Given the description of an element on the screen output the (x, y) to click on. 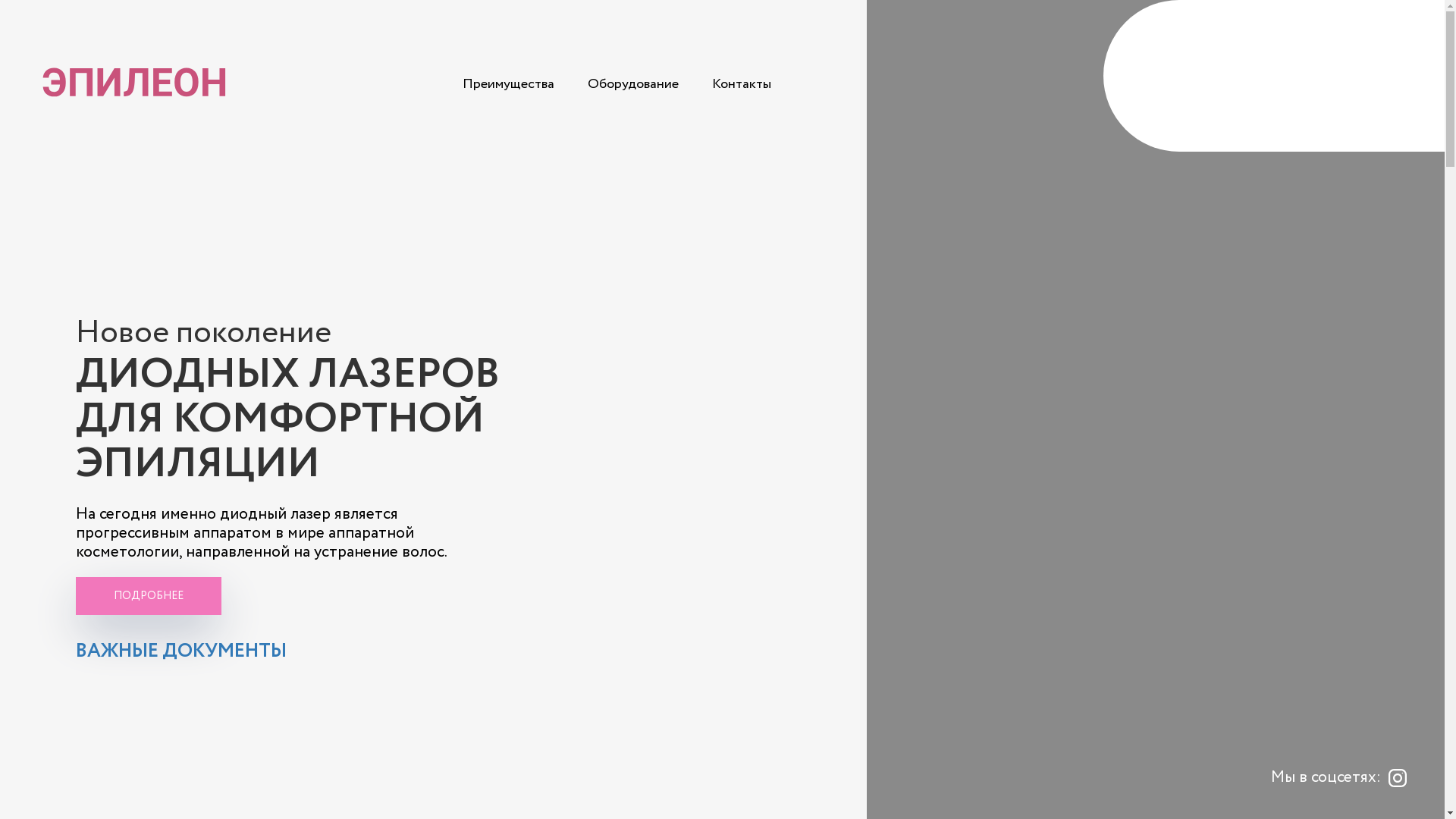
+375 44 511-02-22 Element type: text (1344, 74)
+375 29 150-66-66 Element type: text (1343, 94)
